Given the description of an element on the screen output the (x, y) to click on. 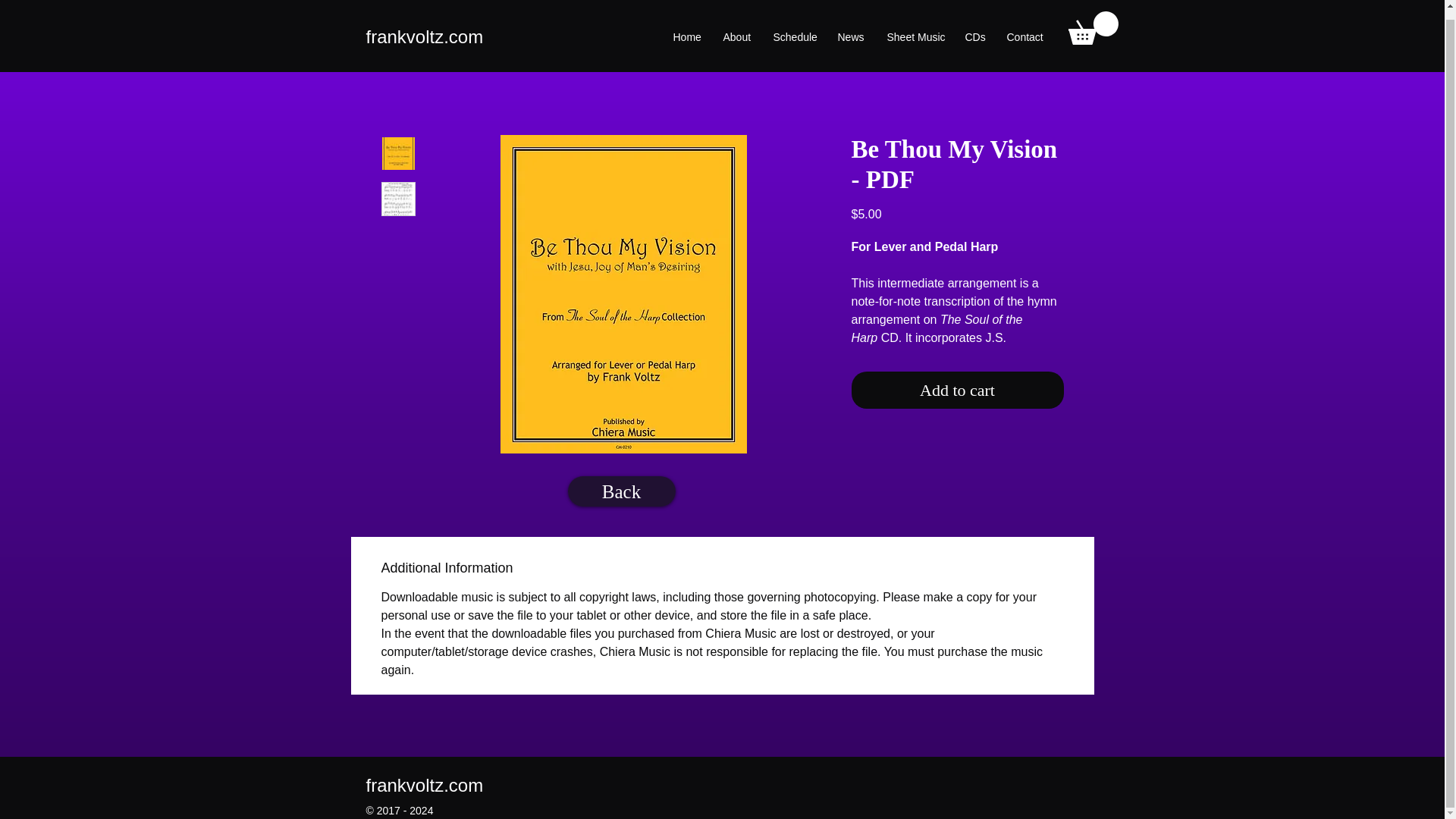
Sheet Music (914, 28)
About (736, 28)
Back (621, 490)
Home (686, 28)
Contact (1023, 28)
News (850, 28)
Schedule (793, 28)
Add to cart (956, 389)
CDs (974, 28)
